Given the description of an element on the screen output the (x, y) to click on. 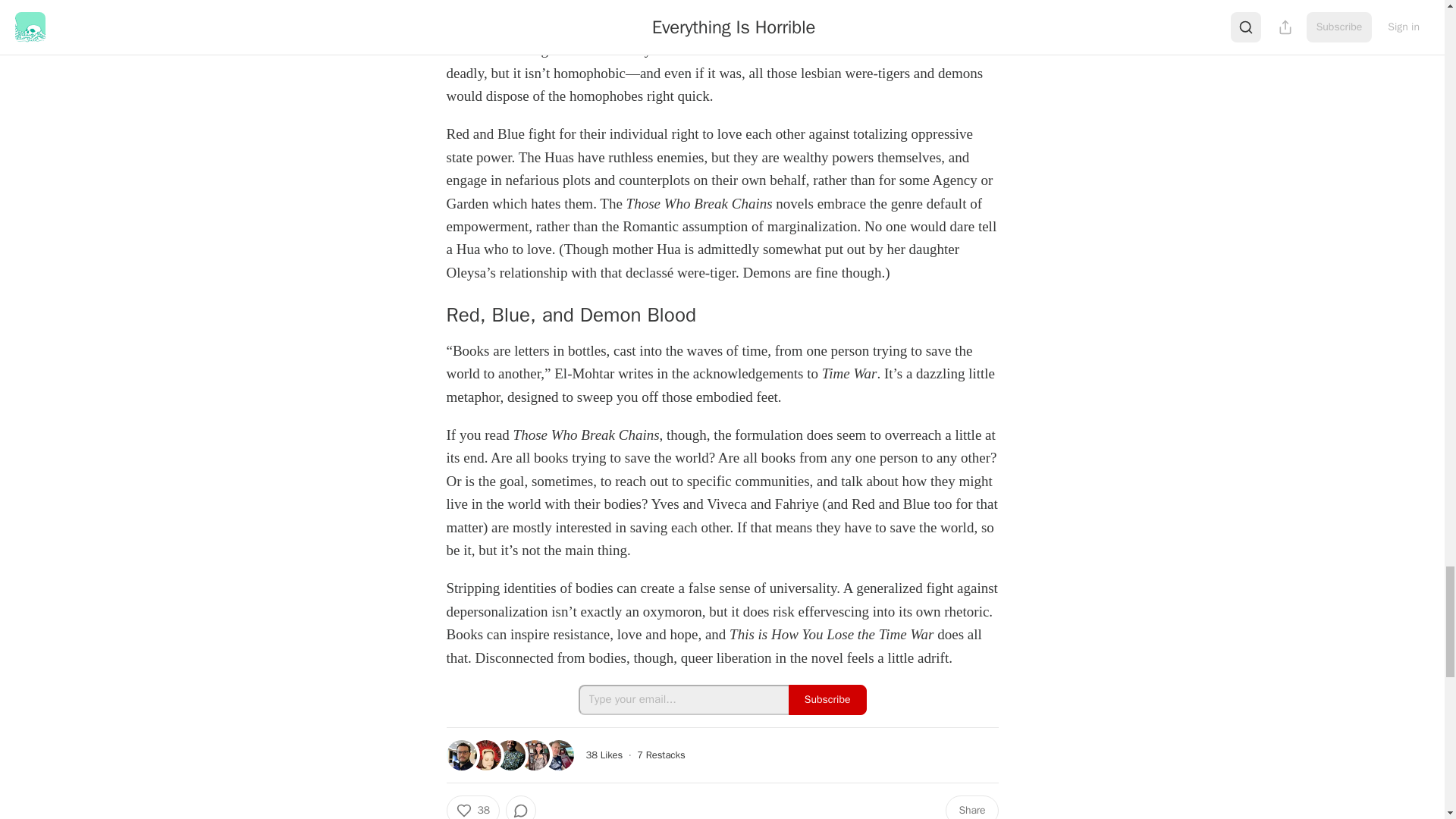
38 Likes (604, 754)
Subscribe (827, 699)
